Given the description of an element on the screen output the (x, y) to click on. 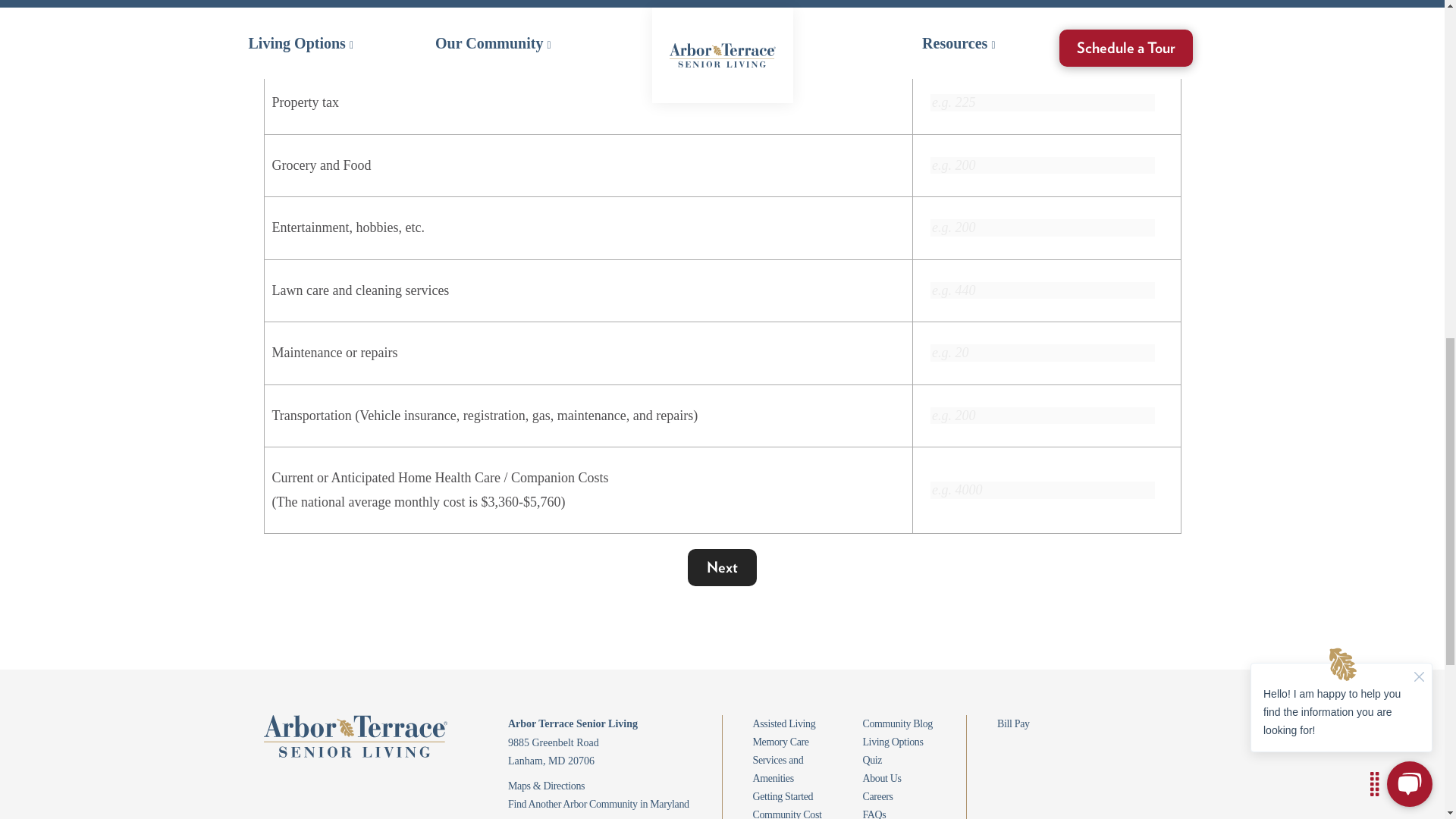
Next (722, 567)
Find Another Arbor Community in Maryland (598, 803)
Assisted Living (783, 723)
Memory Care (780, 741)
